Given the description of an element on the screen output the (x, y) to click on. 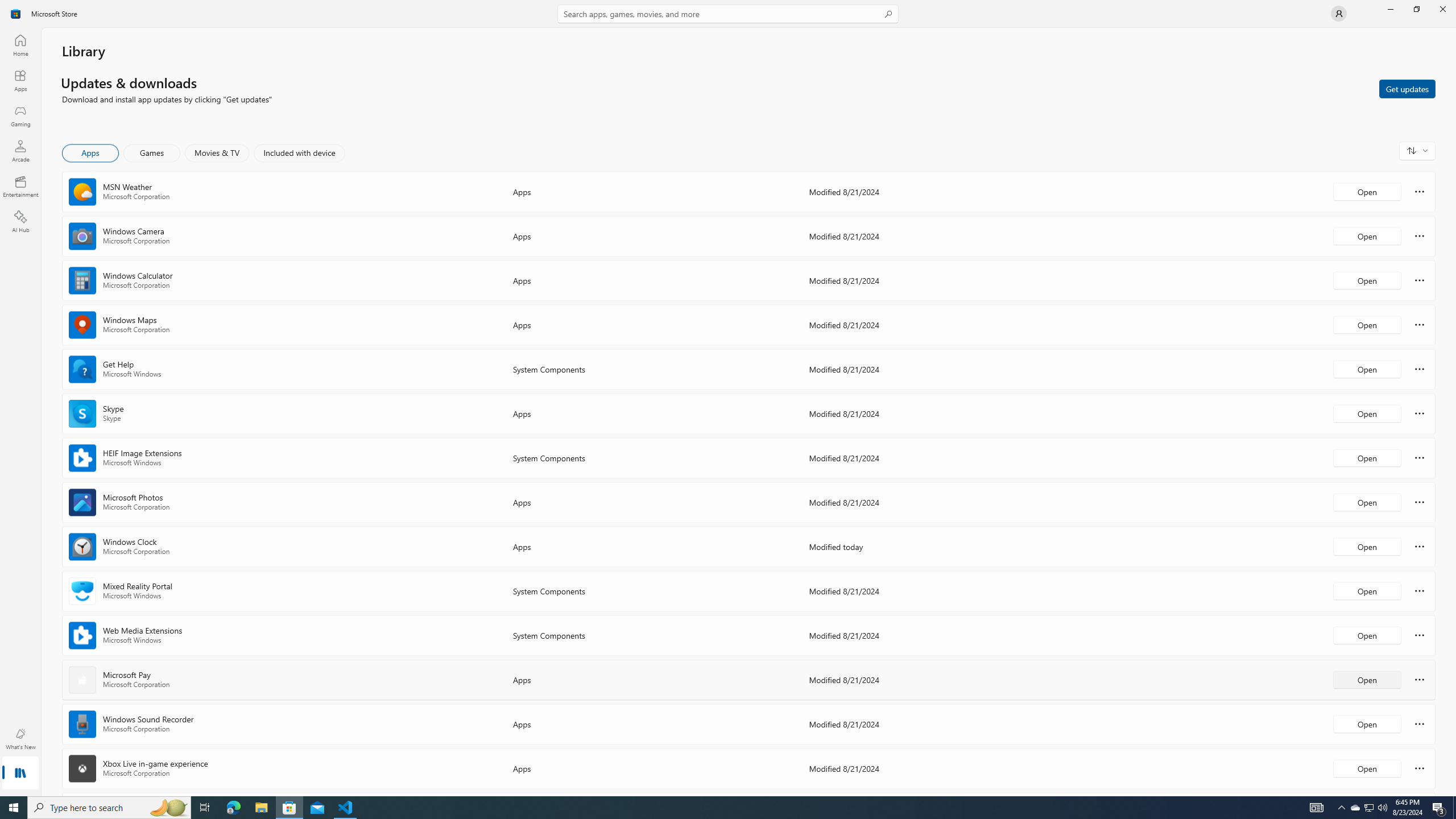
AutomationID: NavigationControl (728, 398)
Minimize Microsoft Store (1390, 9)
Restore Microsoft Store (1416, 9)
User profile (1338, 13)
Apps (20, 80)
Entertainment (20, 185)
More options (1419, 768)
AI Hub (20, 221)
Home (20, 45)
Games (151, 153)
Sort and filter (1417, 149)
Class: Image (15, 13)
Library (20, 773)
Movies & TV (216, 153)
Apps (90, 153)
